Given the description of an element on the screen output the (x, y) to click on. 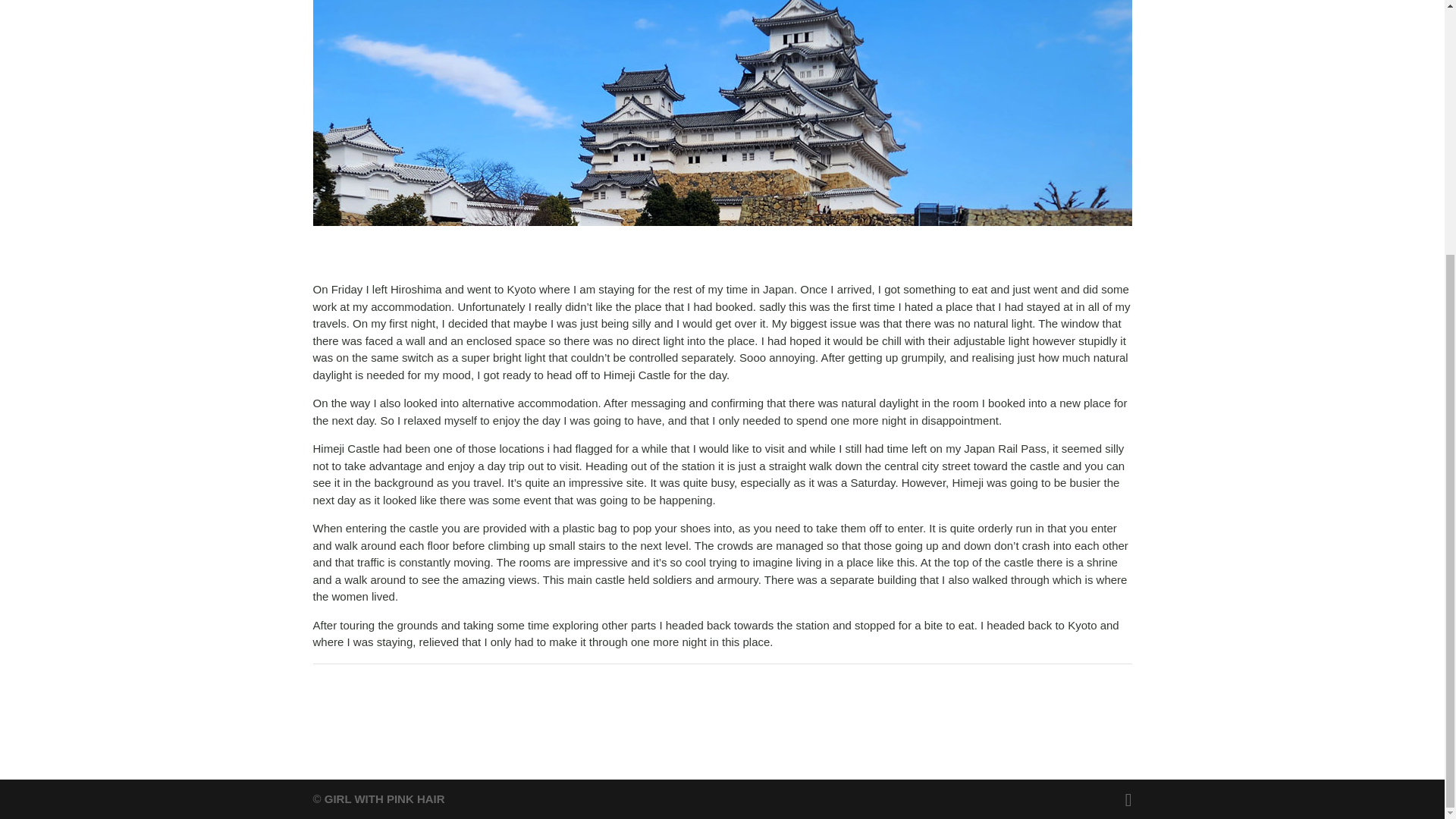
GIRL WITH PINK HAIR (384, 798)
